Given the description of an element on the screen output the (x, y) to click on. 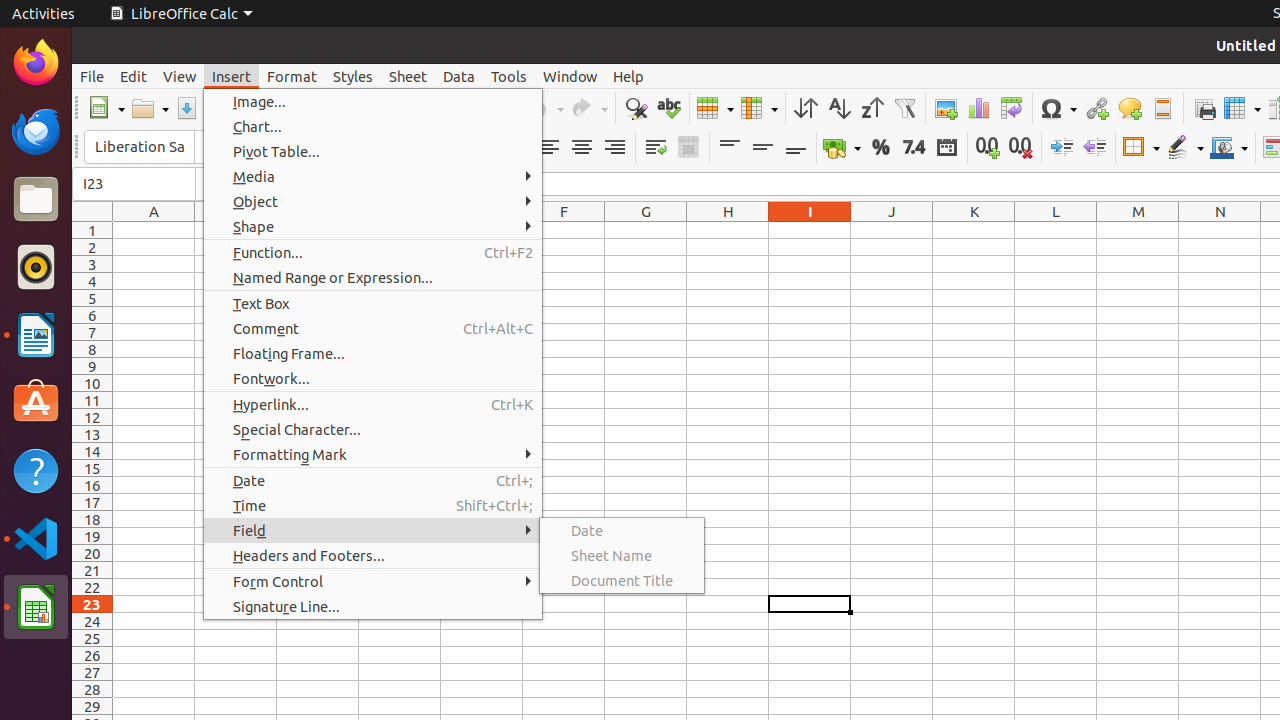
Sort Descending Element type: push-button (871, 108)
Document Title Element type: menu-item (622, 580)
Headers and Footers... Element type: menu-item (373, 555)
Border Style Element type: push-button (1185, 147)
